Given the description of an element on the screen output the (x, y) to click on. 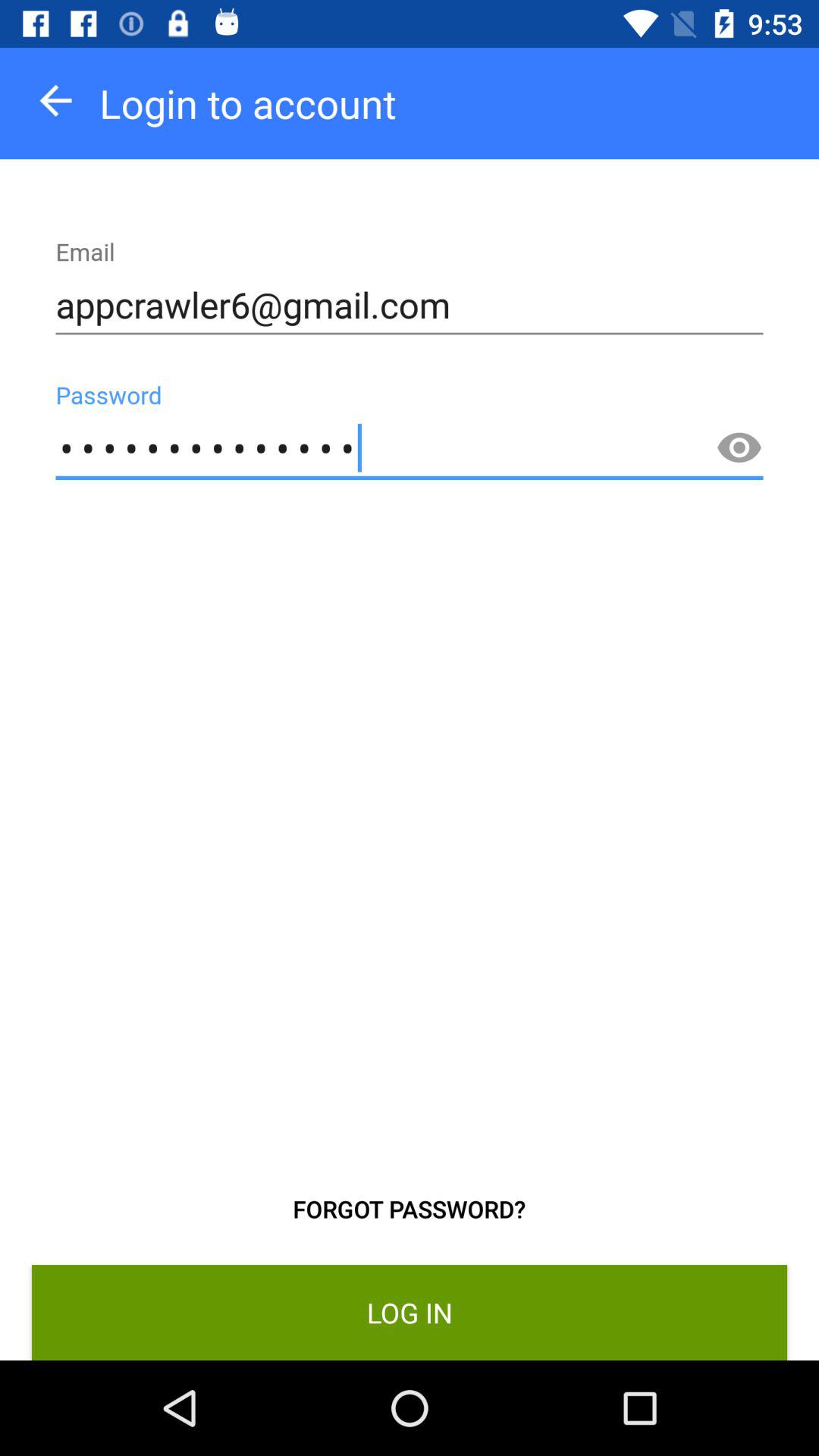
choose the icon below login to account (409, 305)
